Given the description of an element on the screen output the (x, y) to click on. 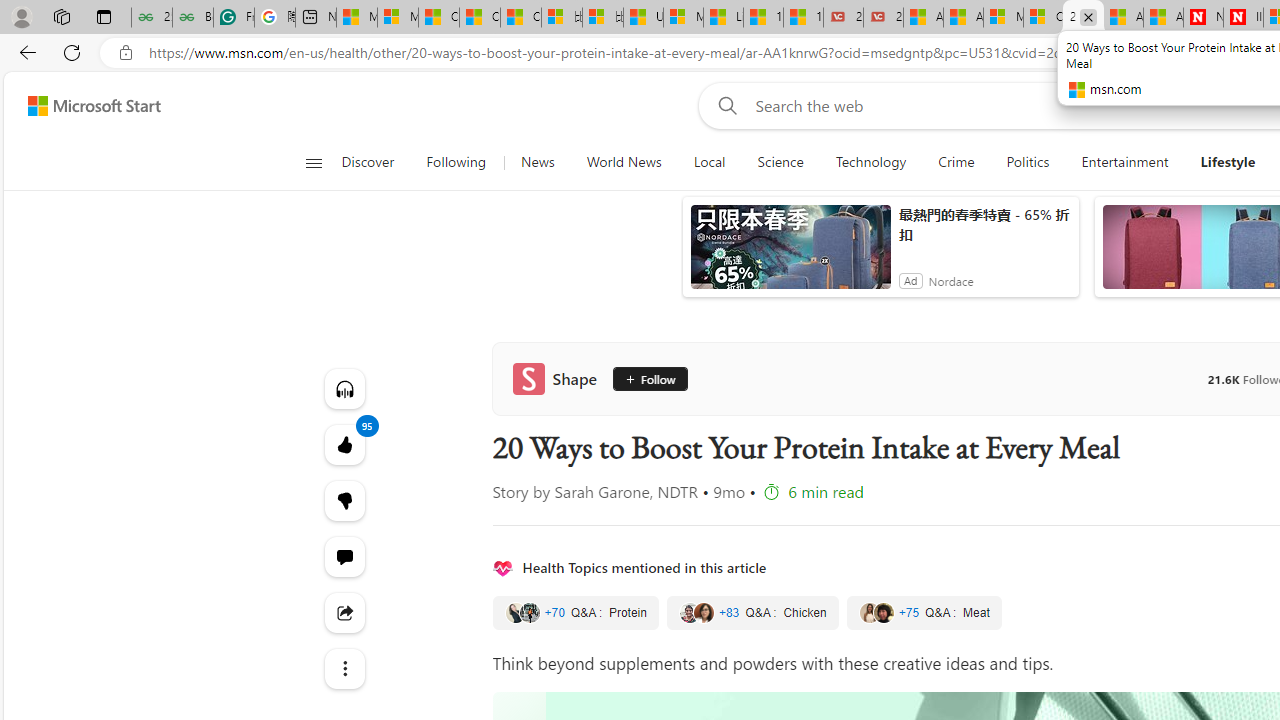
Free AI Writing Assistance for Students | Grammarly (233, 17)
Dislike (343, 500)
Lifestyle - MSN (723, 17)
World News (623, 162)
Start the conversation (343, 556)
Class: quote-thumbnail (882, 612)
World News (623, 162)
Technology (870, 162)
